Given the description of an element on the screen output the (x, y) to click on. 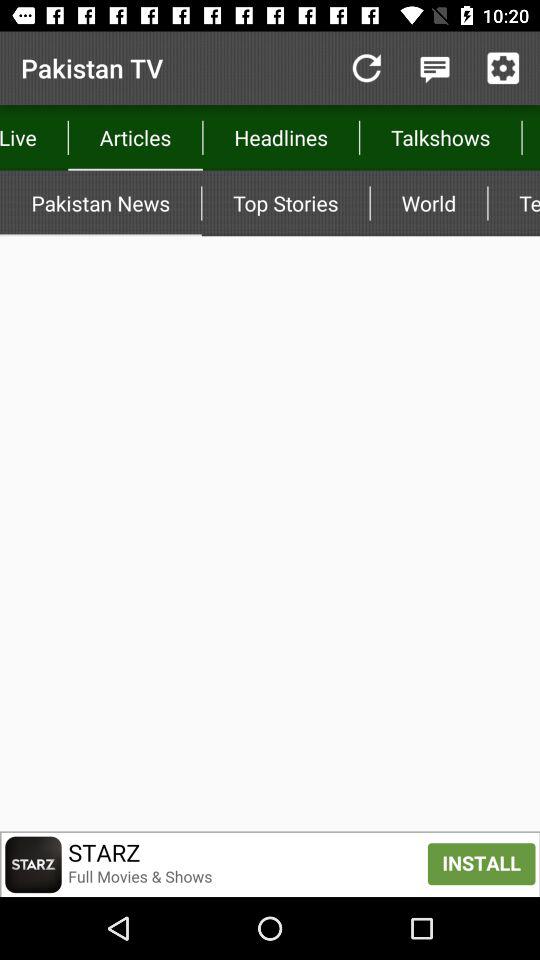
jump to articles icon (135, 137)
